Given the description of an element on the screen output the (x, y) to click on. 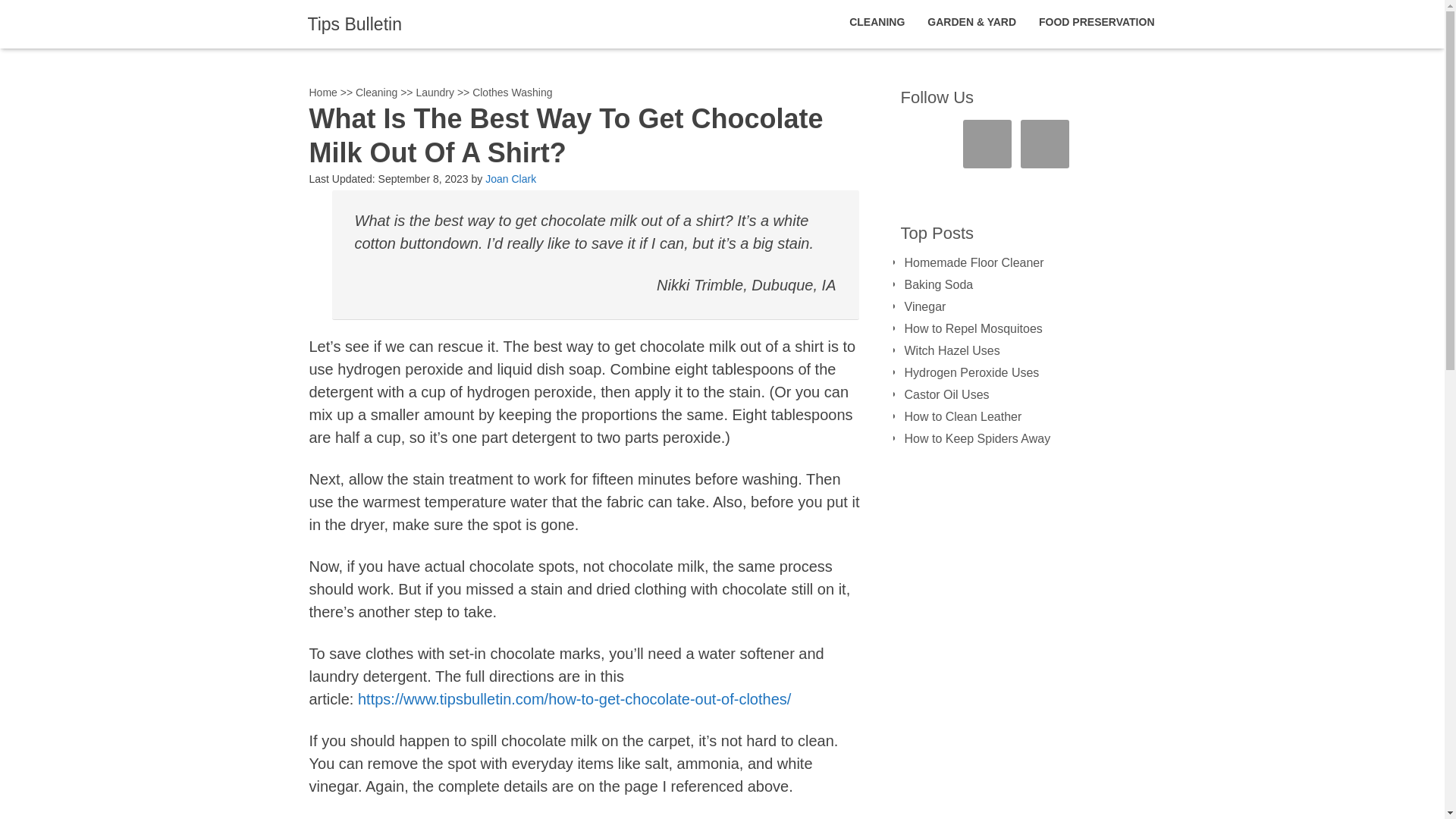
Witch Hazel Uses (951, 350)
How to Repel Mosquitoes (973, 328)
Joan Clark (509, 178)
Baking Soda (938, 284)
How to Keep Spiders Away (976, 438)
Castor Oil Uses (946, 394)
CLEANING (876, 22)
How to Clean Leather (963, 416)
FOOD PRESERVATION (1096, 22)
Homemade Floor Cleaner (973, 262)
Home (322, 92)
Vinegar (924, 306)
Laundry (434, 92)
Tips Bulletin (354, 24)
Hydrogen Peroxide Uses (971, 372)
